Given the description of an element on the screen output the (x, y) to click on. 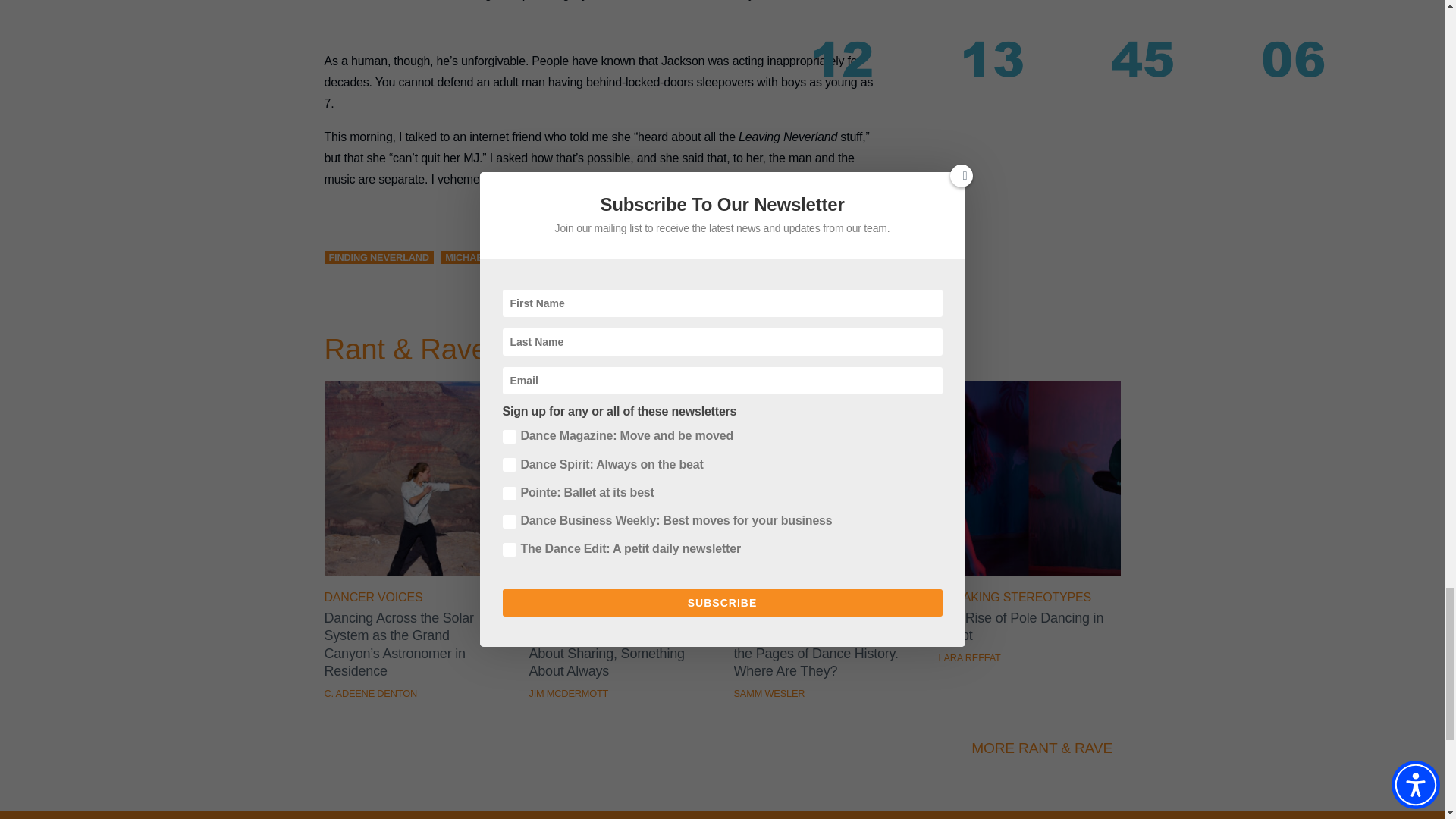
The Rise of Pole Dancing in Egypt (1030, 571)
